Given the description of an element on the screen output the (x, y) to click on. 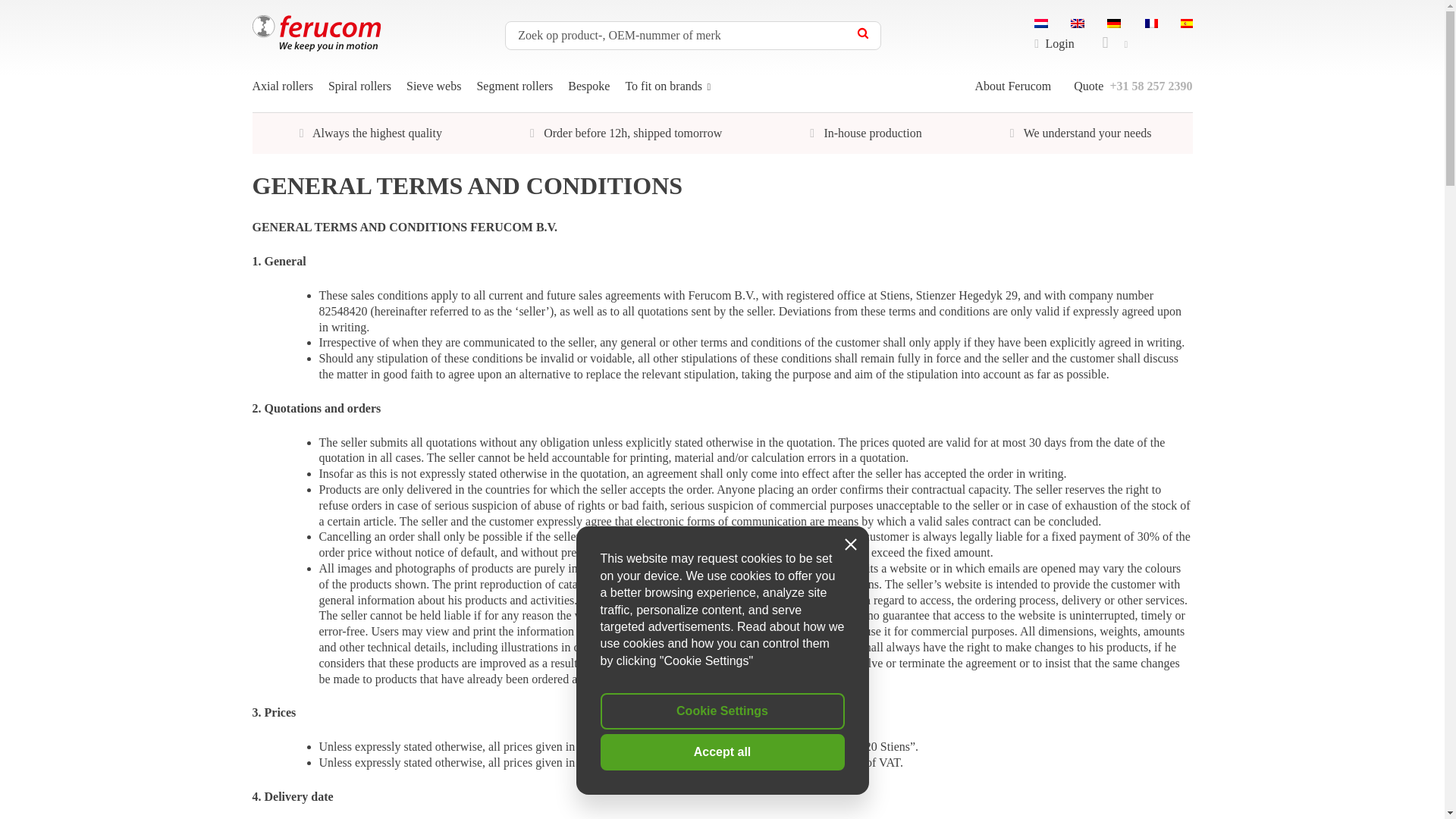
Sieve webs (433, 95)
To fit on brands (669, 95)
Spiral rollers (360, 95)
Quote (1088, 85)
About Ferucom (1012, 85)
Login (1050, 42)
Bespoke (588, 95)
Axial rollers (282, 95)
Segment rollers (514, 95)
